Given the description of an element on the screen output the (x, y) to click on. 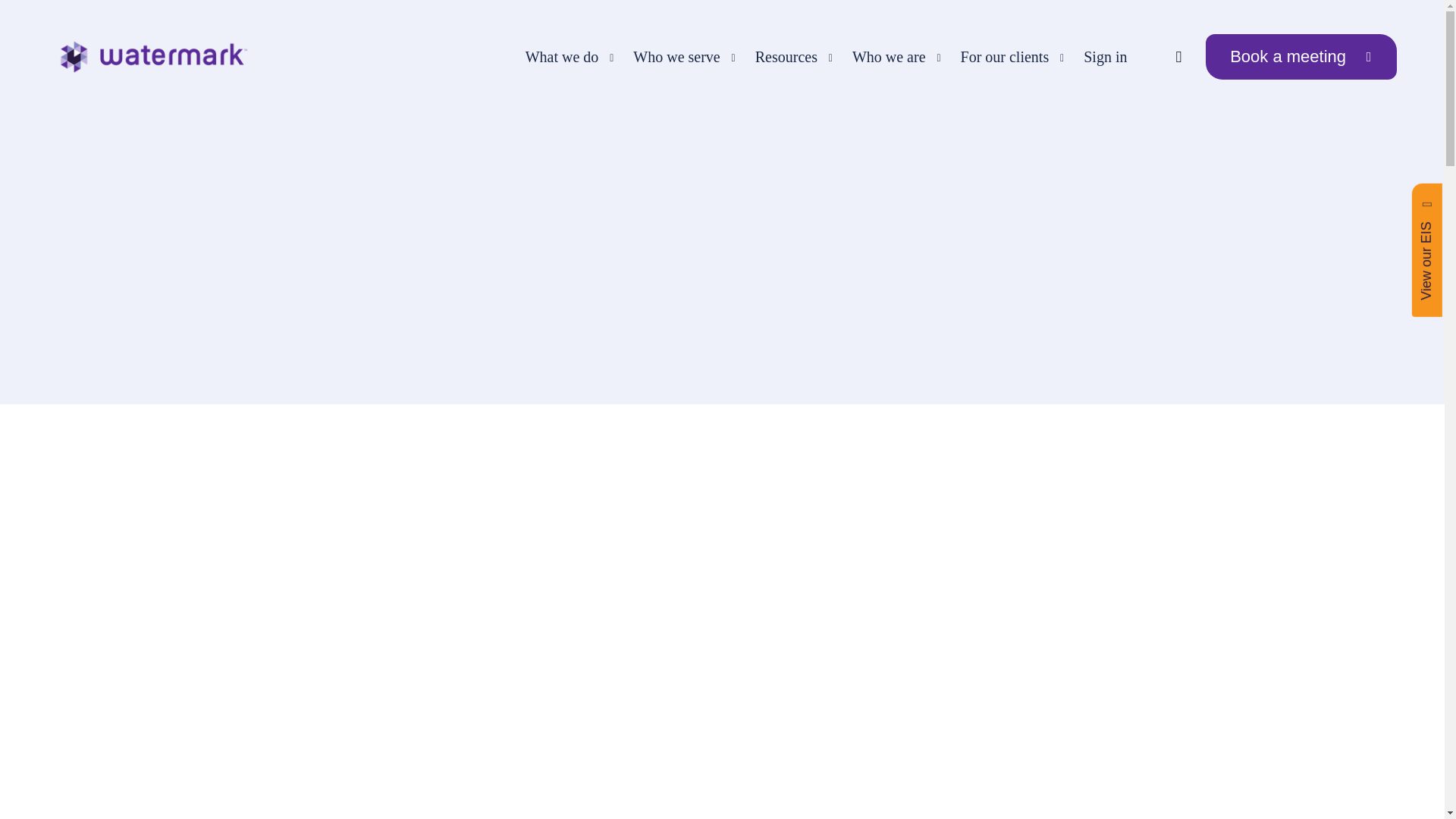
Who we are (890, 56)
What we do (564, 56)
Who we serve (677, 56)
For our clients (1006, 56)
